Given the description of an element on the screen output the (x, y) to click on. 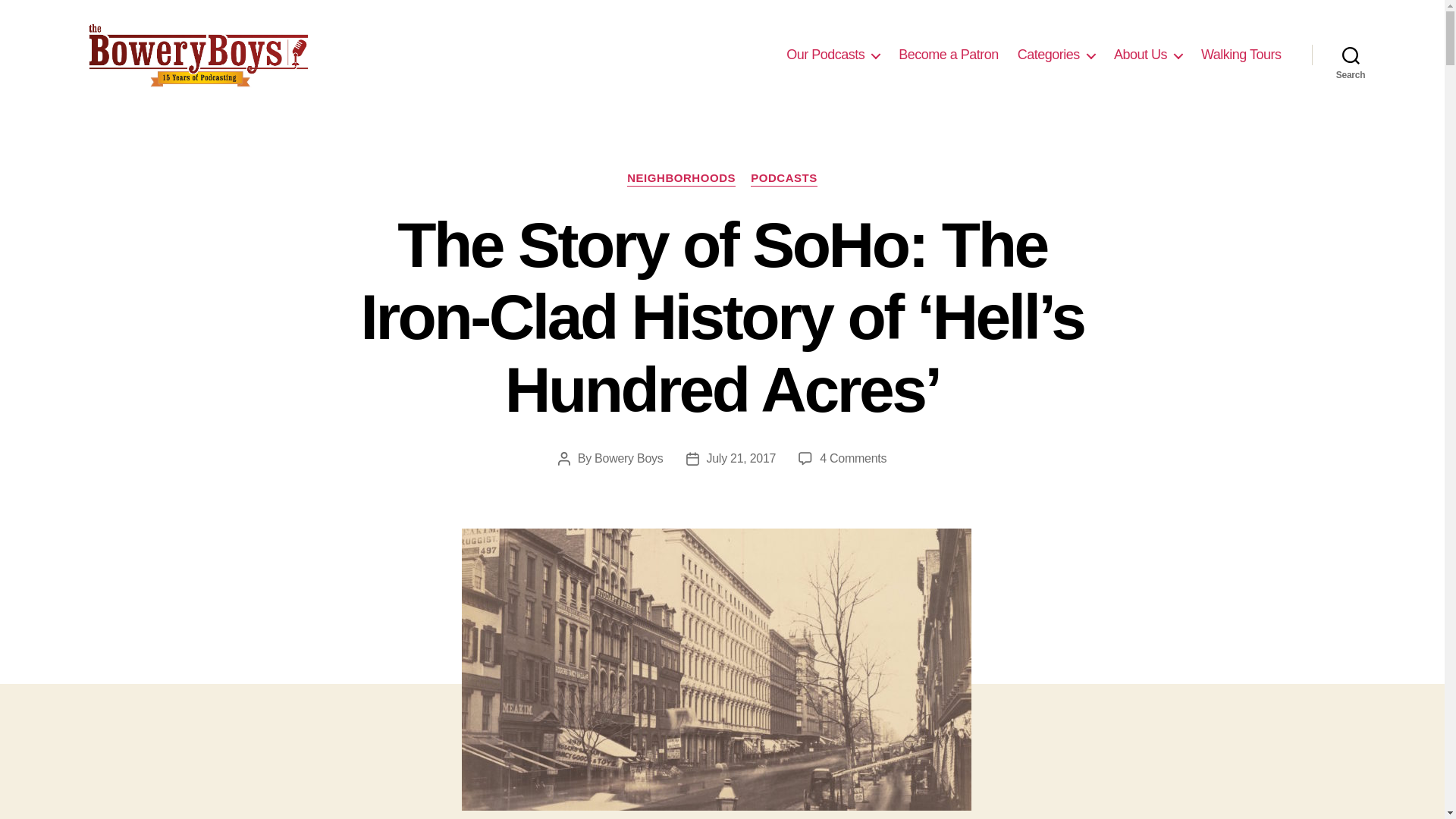
Categories (1055, 54)
Become a Patron (948, 54)
About Us (1147, 54)
Our Podcasts (832, 54)
Search (1350, 55)
Walking Tours (1241, 54)
